Given the description of an element on the screen output the (x, y) to click on. 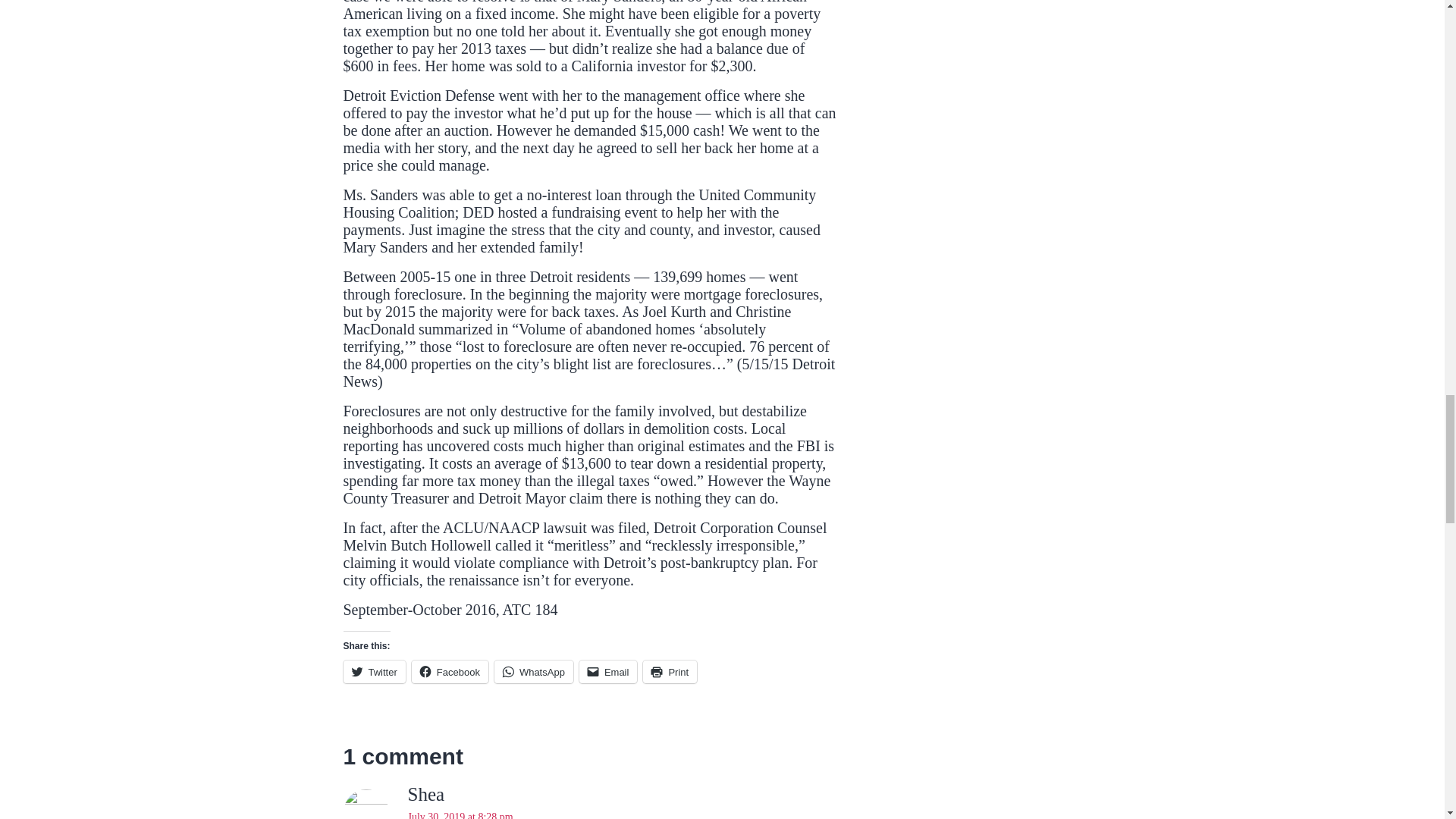
Click to email a link to a friend (608, 671)
Click to share on Twitter (373, 671)
Click to share on WhatsApp (534, 671)
Click to print (670, 671)
Click to share on Facebook (449, 671)
